Given the description of an element on the screen output the (x, y) to click on. 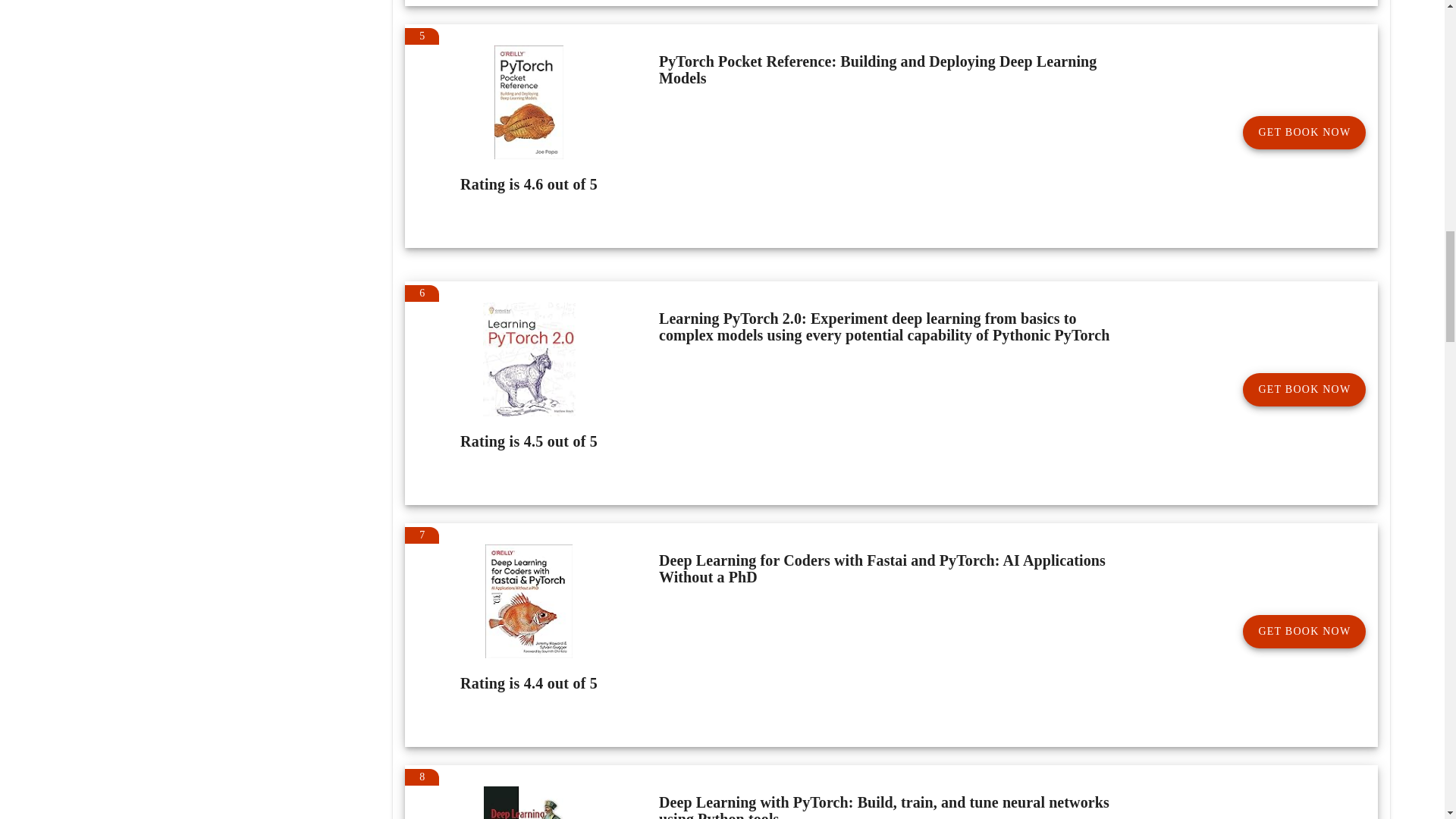
GET BOOK NOW (1304, 389)
GET BOOK NOW (1304, 132)
GET BOOK NOW (1304, 631)
